Given the description of an element on the screen output the (x, y) to click on. 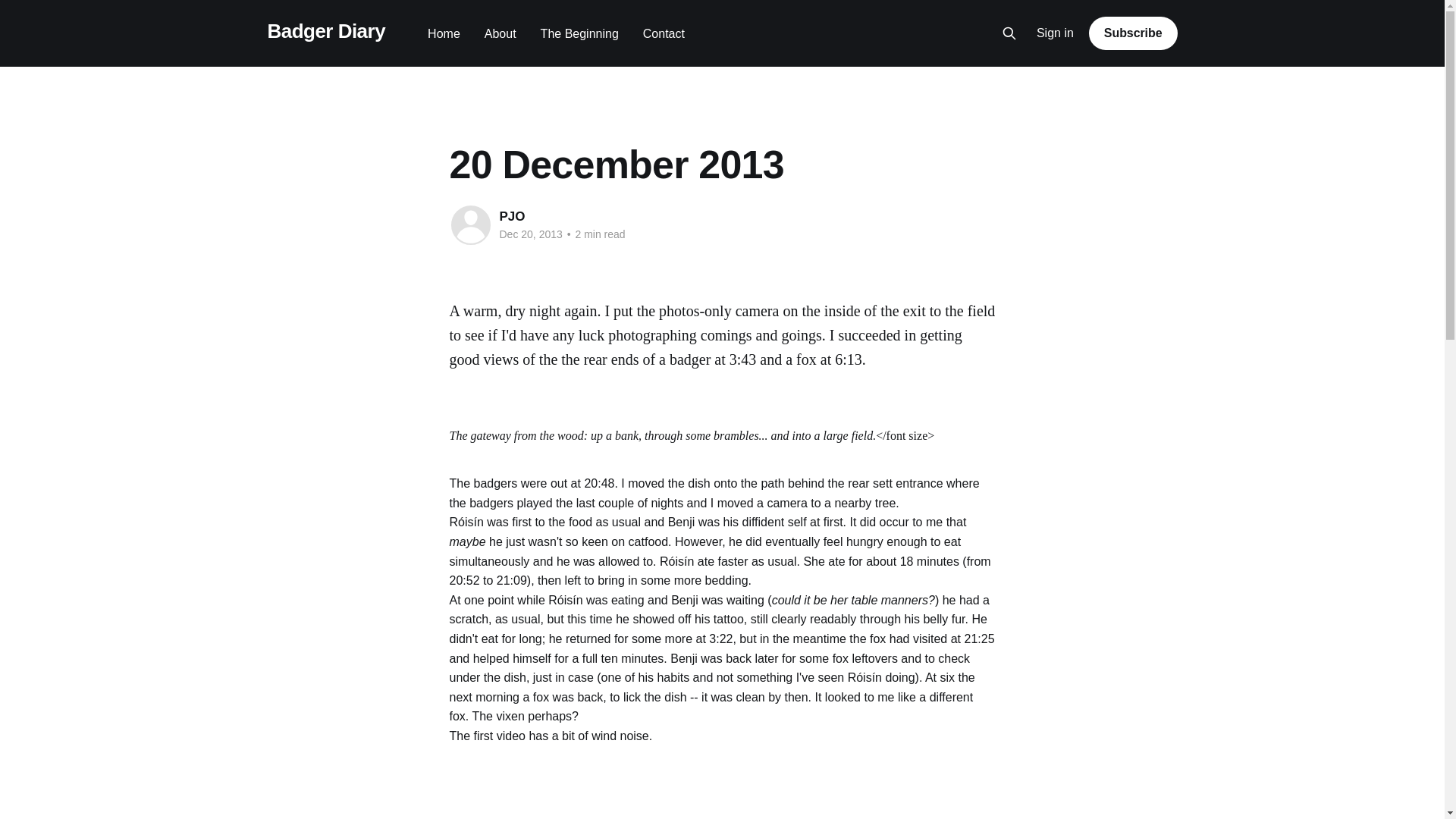
PJO (511, 216)
Subscribe (1133, 32)
Sign in (1055, 33)
Home (444, 33)
Badger Diary (325, 31)
Contact (663, 33)
The Beginning (579, 33)
About (500, 33)
